Given the description of an element on the screen output the (x, y) to click on. 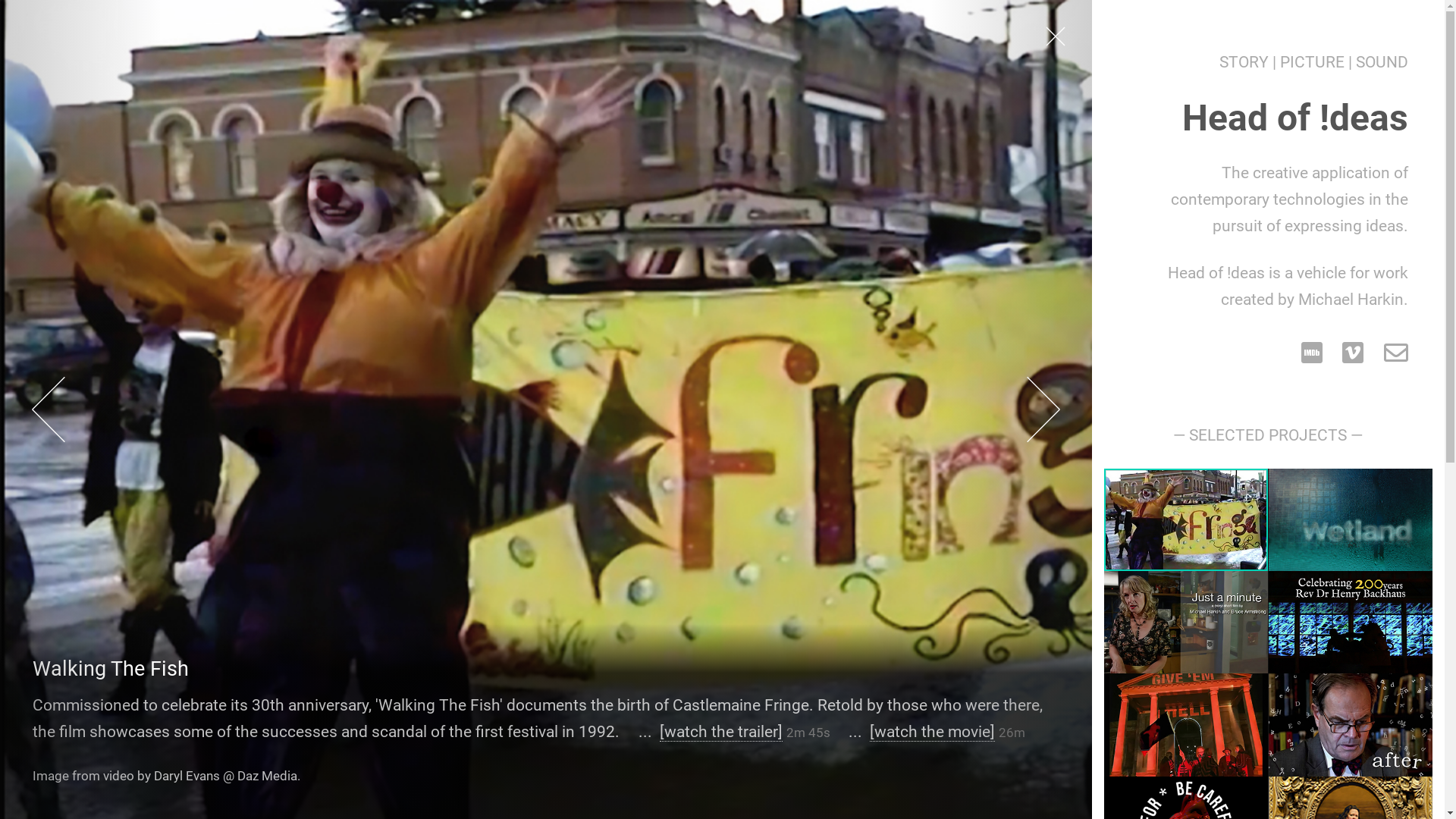
[watch the movie] Element type: text (931, 731)
[watch the trailer] Element type: text (720, 731)
